Given the description of an element on the screen output the (x, y) to click on. 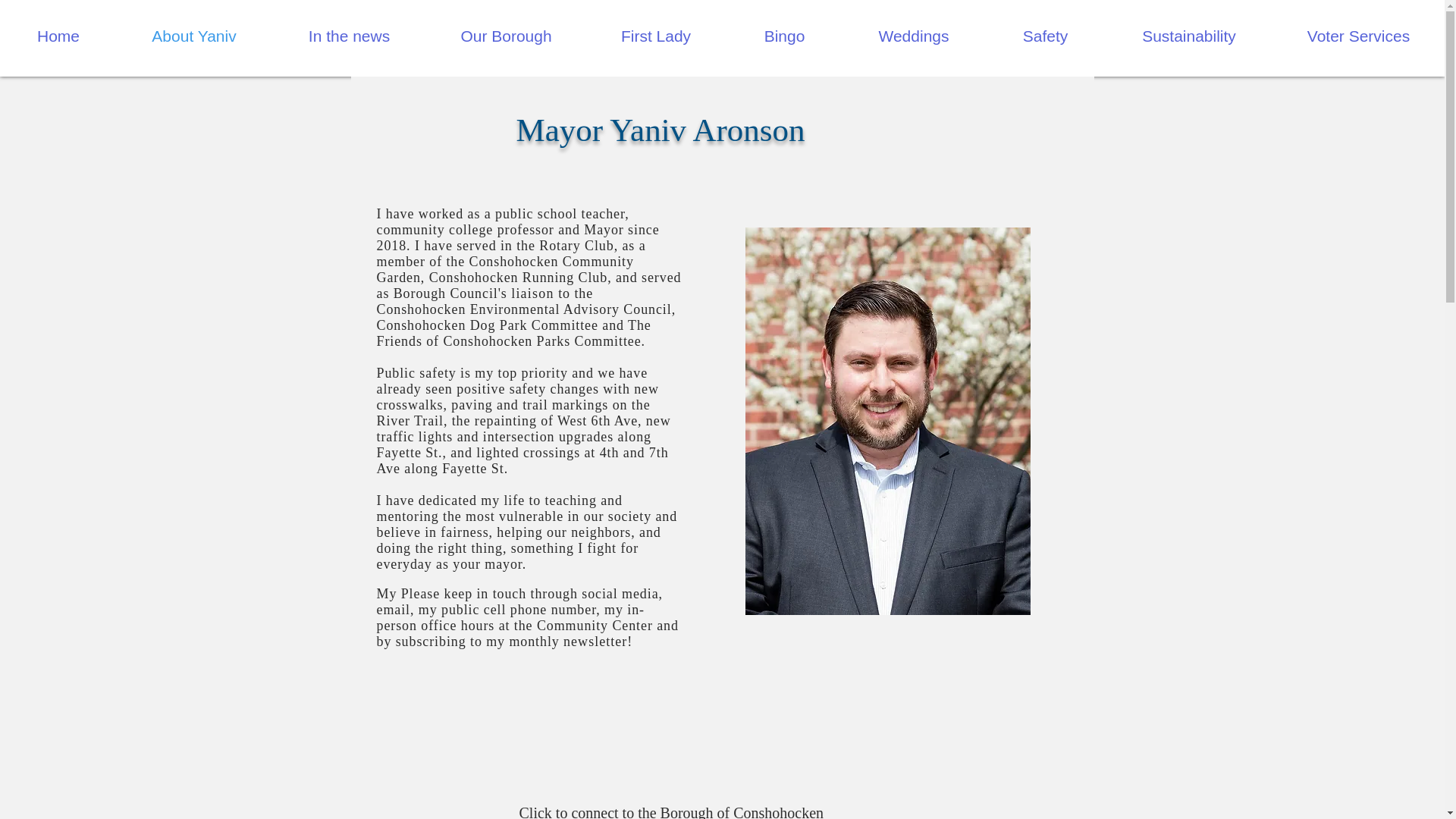
Safety (1045, 35)
About Yaniv (193, 35)
First Lady (655, 35)
Our Borough (505, 35)
Bingo (784, 35)
Home (58, 35)
Weddings (914, 35)
Sustainability (1188, 35)
In the news (348, 35)
